Given the description of an element on the screen output the (x, y) to click on. 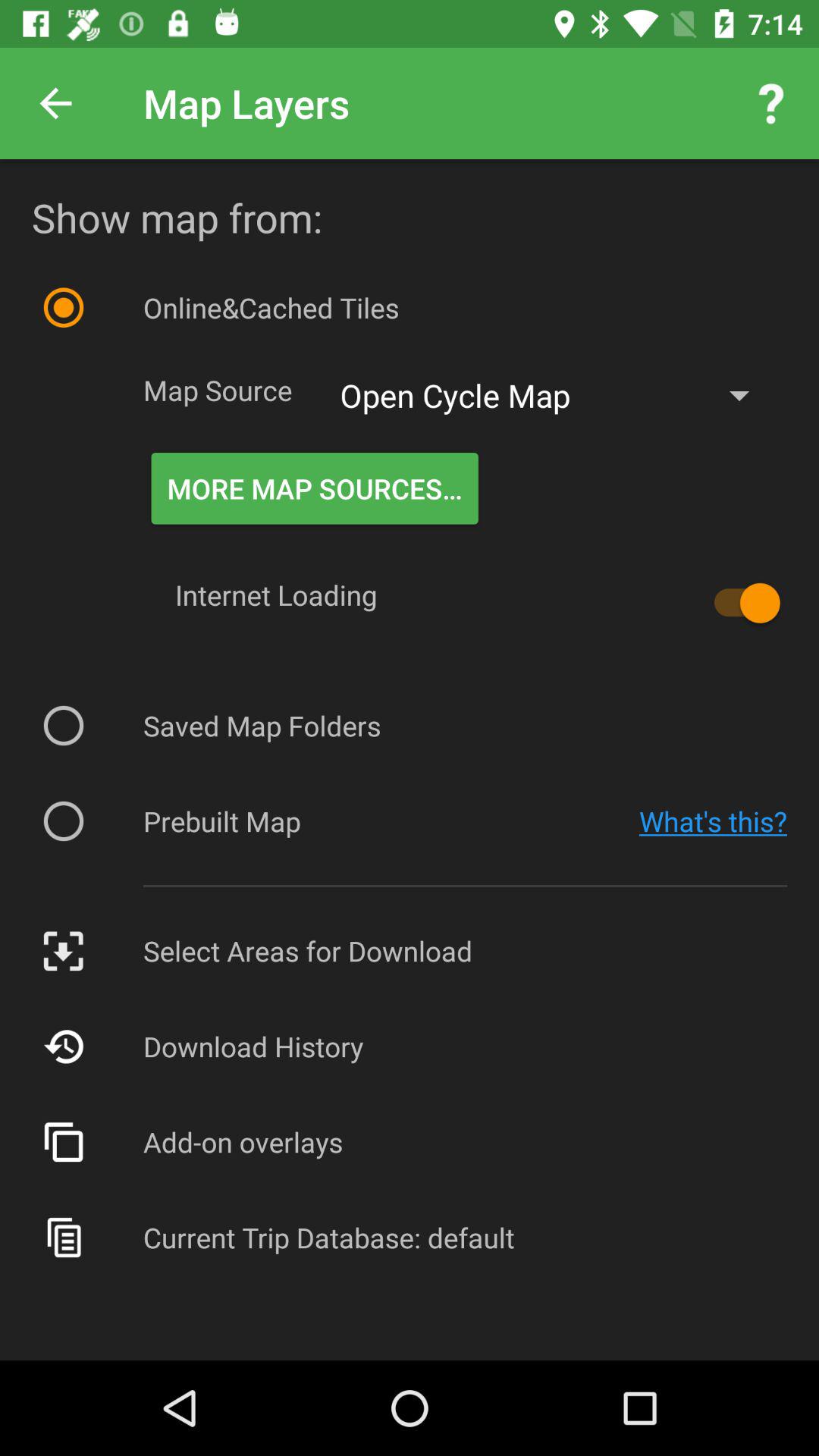
toggle internet loading (739, 603)
